Given the description of an element on the screen output the (x, y) to click on. 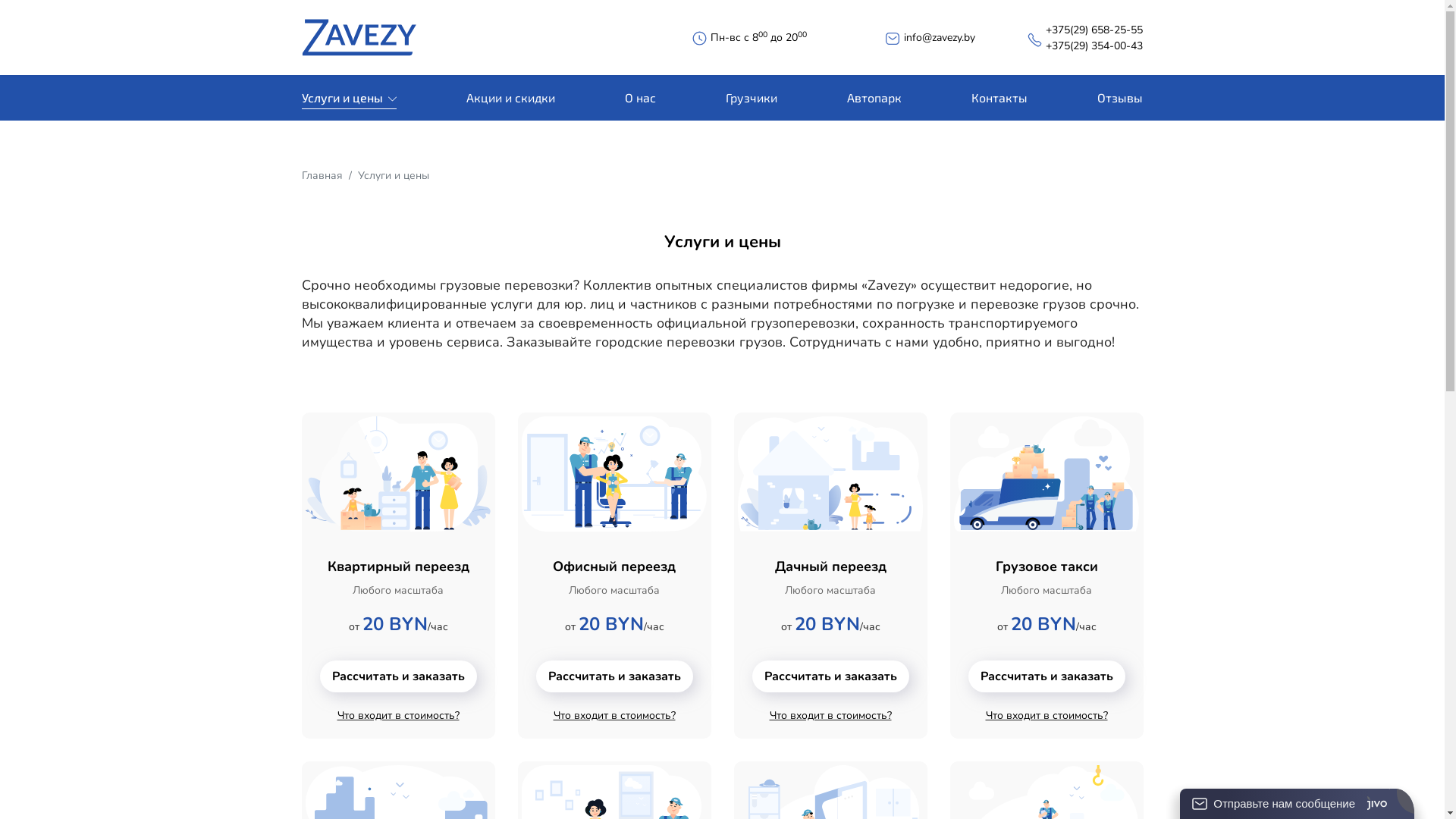
20 BYN Element type: text (826, 626)
info@zavezy.by Element type: text (939, 37)
+375(29) 658-25-55 Element type: text (1093, 29)
20 BYN Element type: text (1042, 626)
20 BYN Element type: text (610, 626)
+375(29) 354-00-43 Element type: text (1093, 44)
20 BYN Element type: text (394, 626)
